Given the description of an element on the screen output the (x, y) to click on. 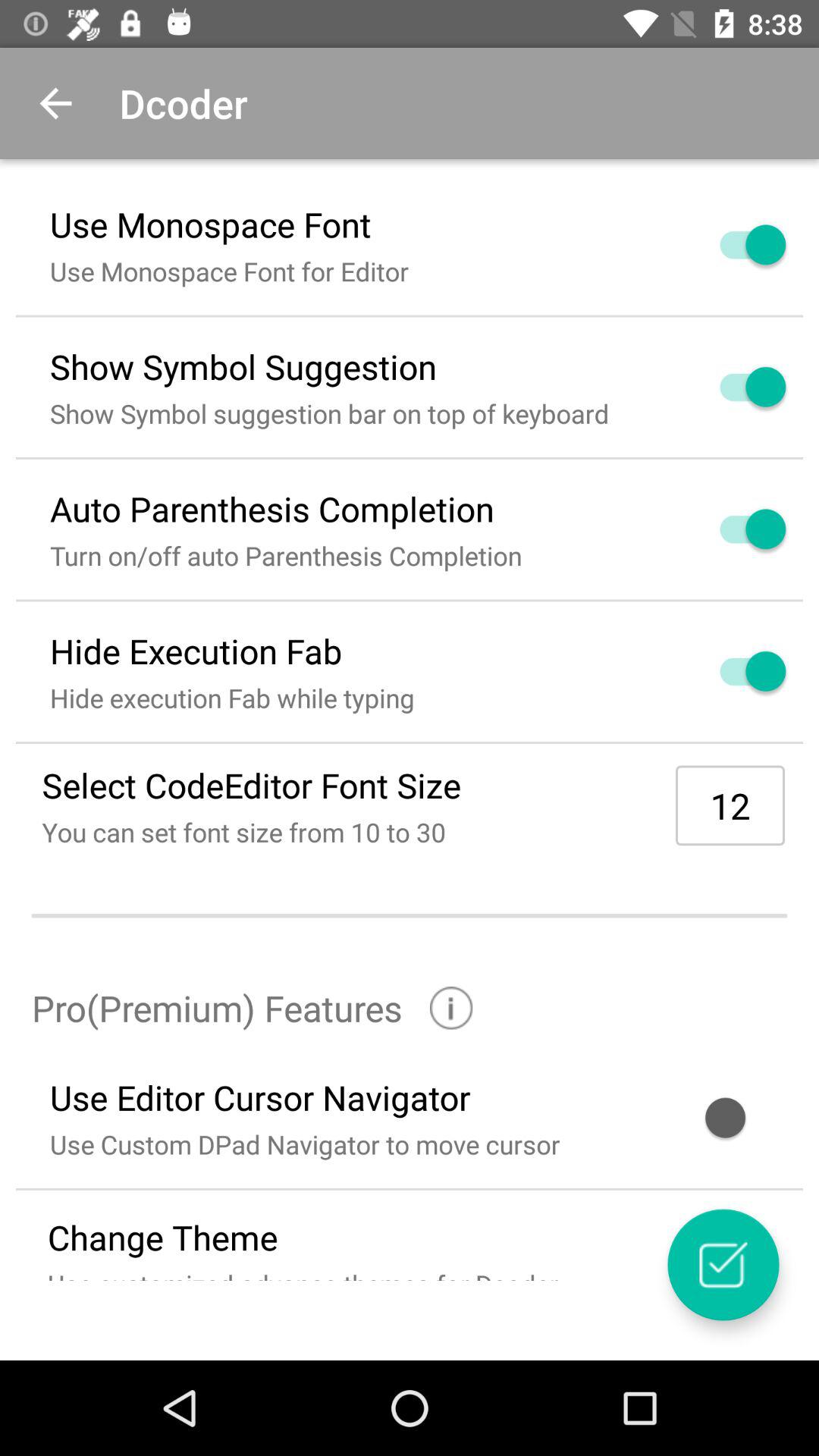
compose (723, 1264)
